Given the description of an element on the screen output the (x, y) to click on. 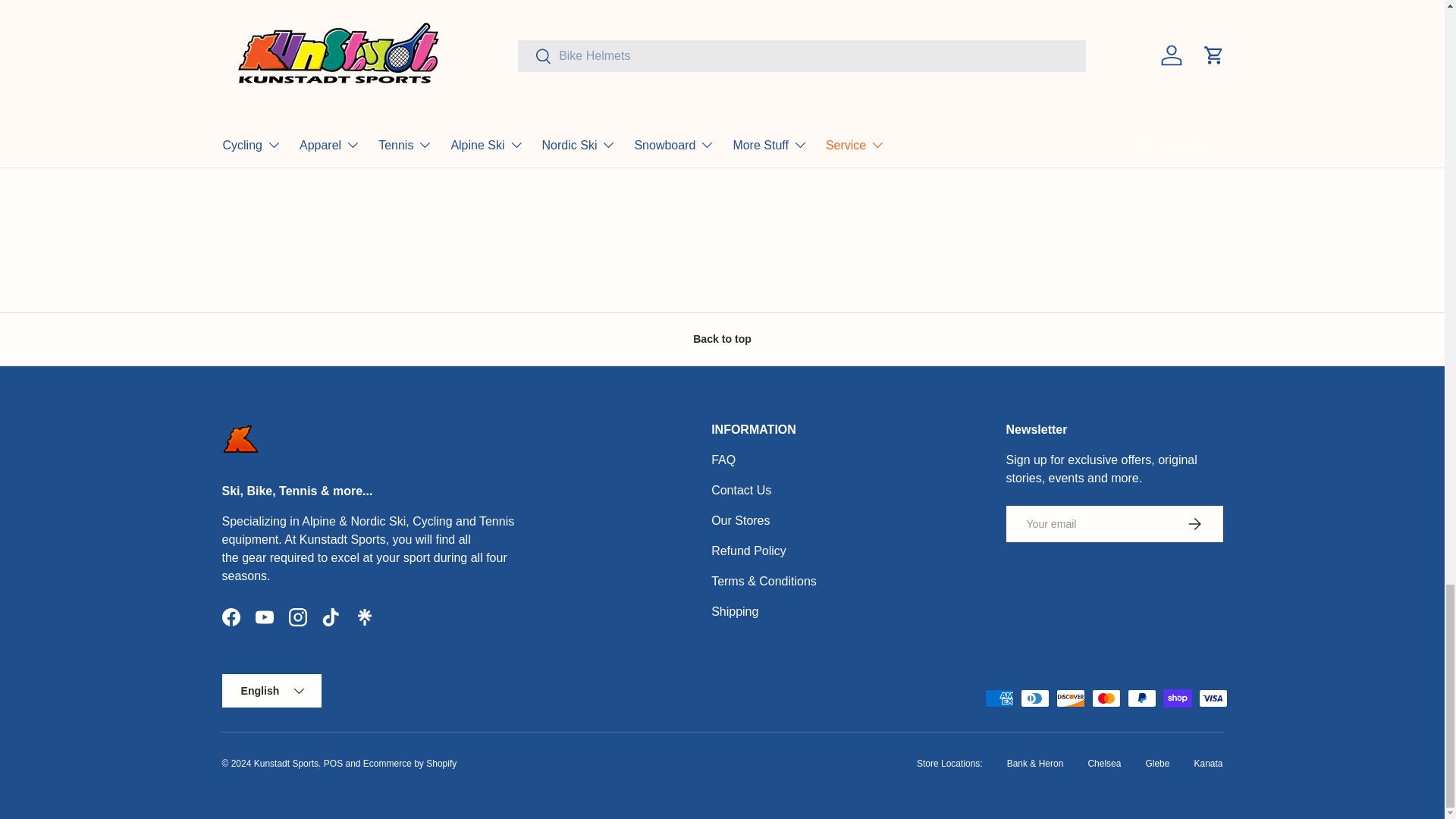
Kunstadt Sports on TikTok (330, 616)
Kunstadt Sports on Facebook (230, 616)
Kunstadt Sports on YouTube (264, 616)
Kunstadt Sports on Instagram (297, 616)
